Given the description of an element on the screen output the (x, y) to click on. 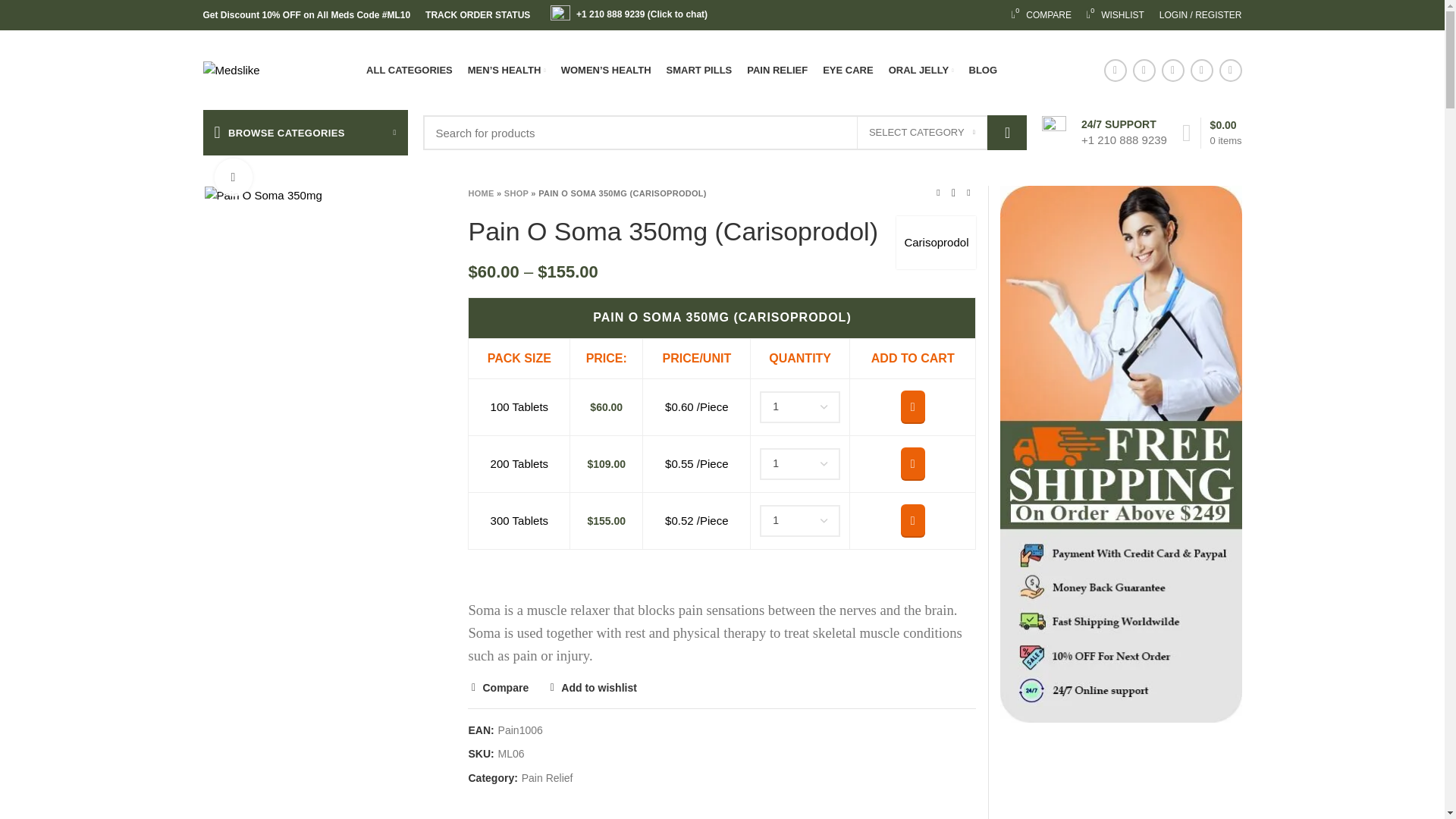
My account (1200, 15)
ALL CATEGORIES (409, 69)
Compare products (1041, 15)
SMART PILLS (699, 69)
TRACK ORDER STATUS (1041, 15)
My Wishlist (477, 14)
PAIN RELIEF (1114, 15)
Log in (1114, 15)
SELECT CATEGORY (777, 69)
